Given the description of an element on the screen output the (x, y) to click on. 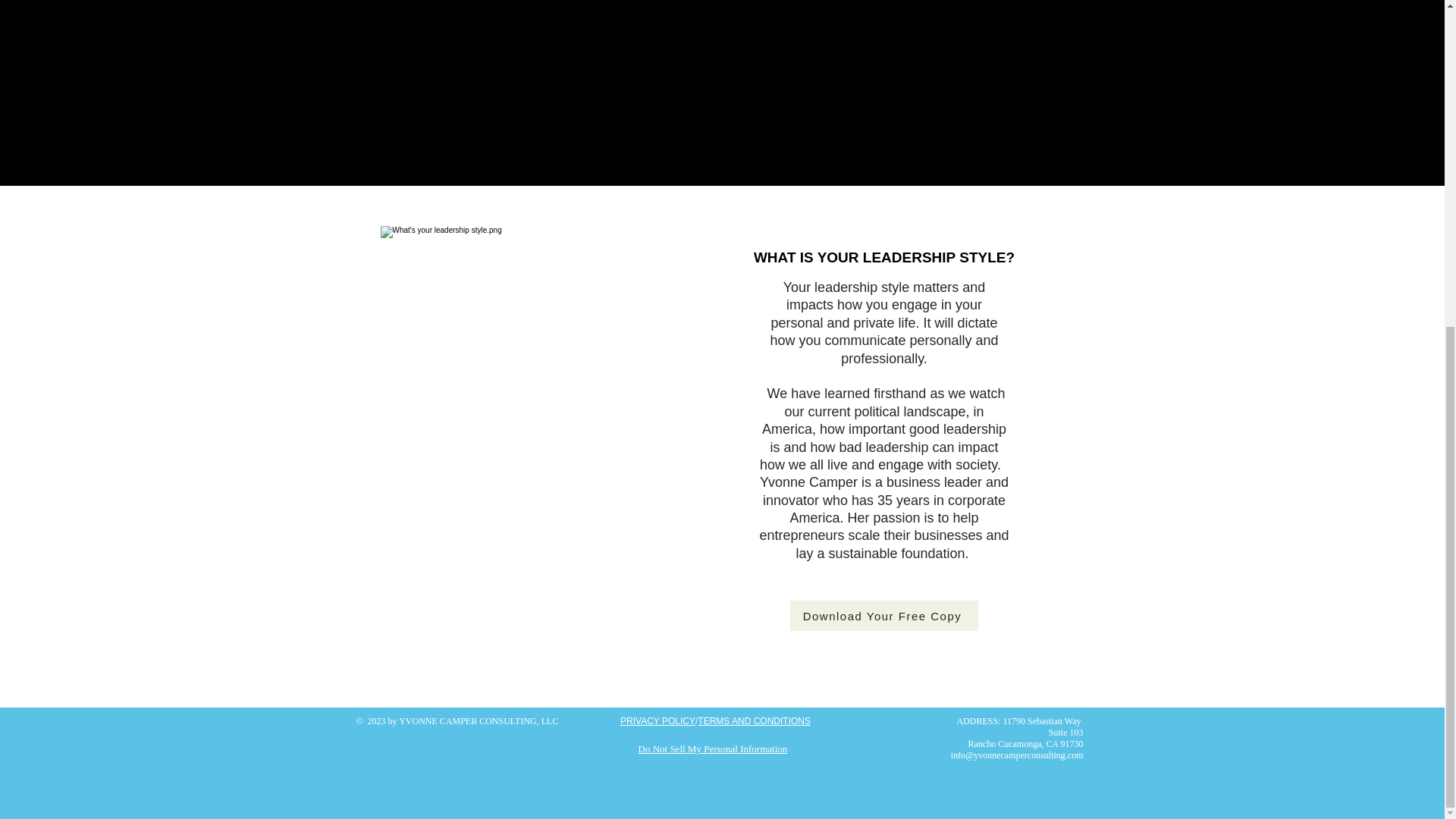
TERMS AND CONDITIONS (753, 720)
Do Not Sell My Personal Information (713, 748)
Download Your Free Copy (884, 615)
PRIVACY POLICY (657, 720)
